Given the description of an element on the screen output the (x, y) to click on. 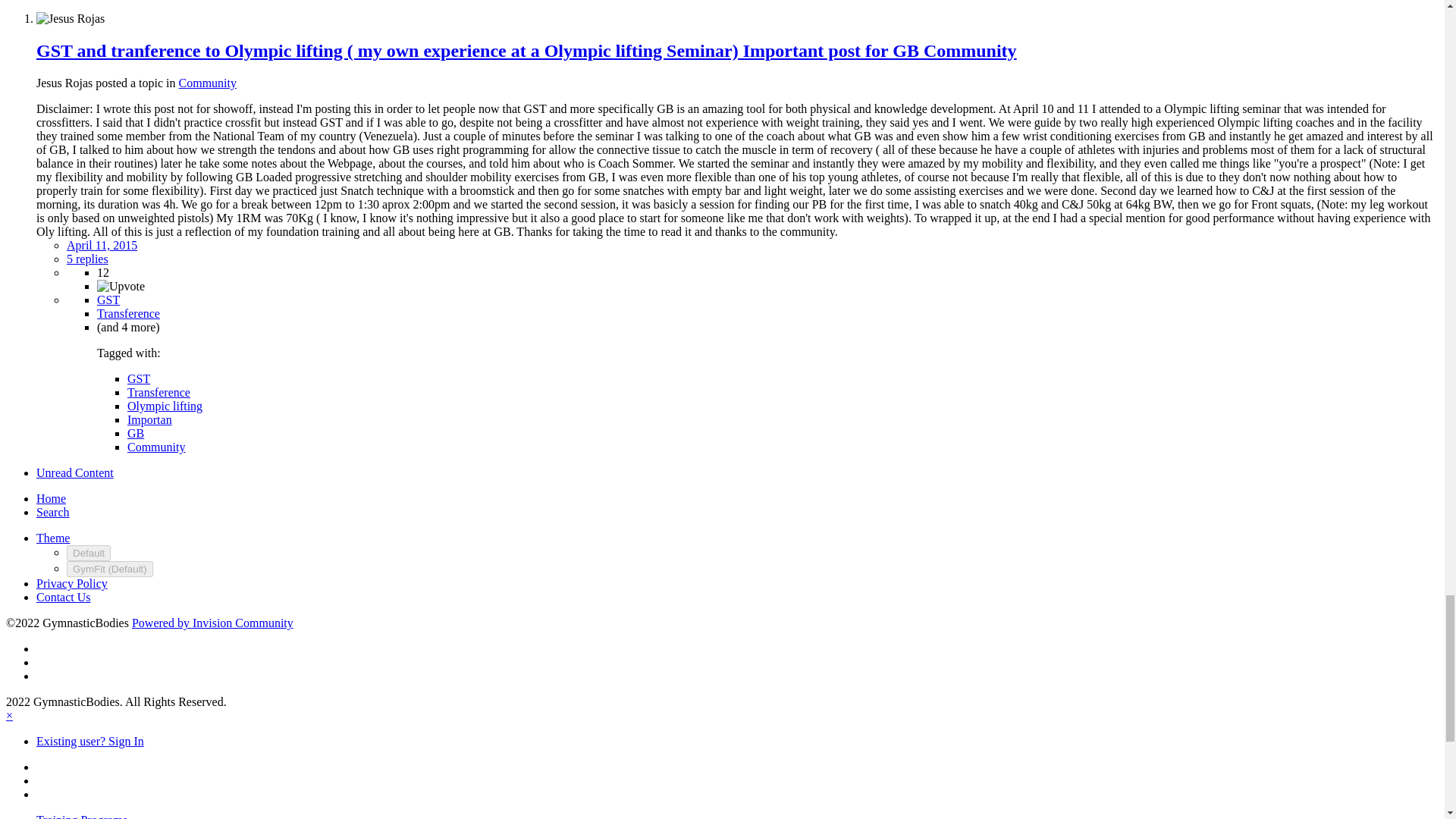
Find other content tagged with 'GB' (136, 432)
Find other content tagged with 'Importan' (149, 419)
Home (50, 498)
Find other content tagged with 'Olympic lifting' (165, 405)
Find other content tagged with 'Transference' (159, 391)
Invision Community (213, 622)
Find other content tagged with 'GST' (108, 299)
Find other content tagged with 'Transference' (128, 313)
Find other content tagged with 'Community' (156, 446)
Upvote (120, 286)
